Given the description of an element on the screen output the (x, y) to click on. 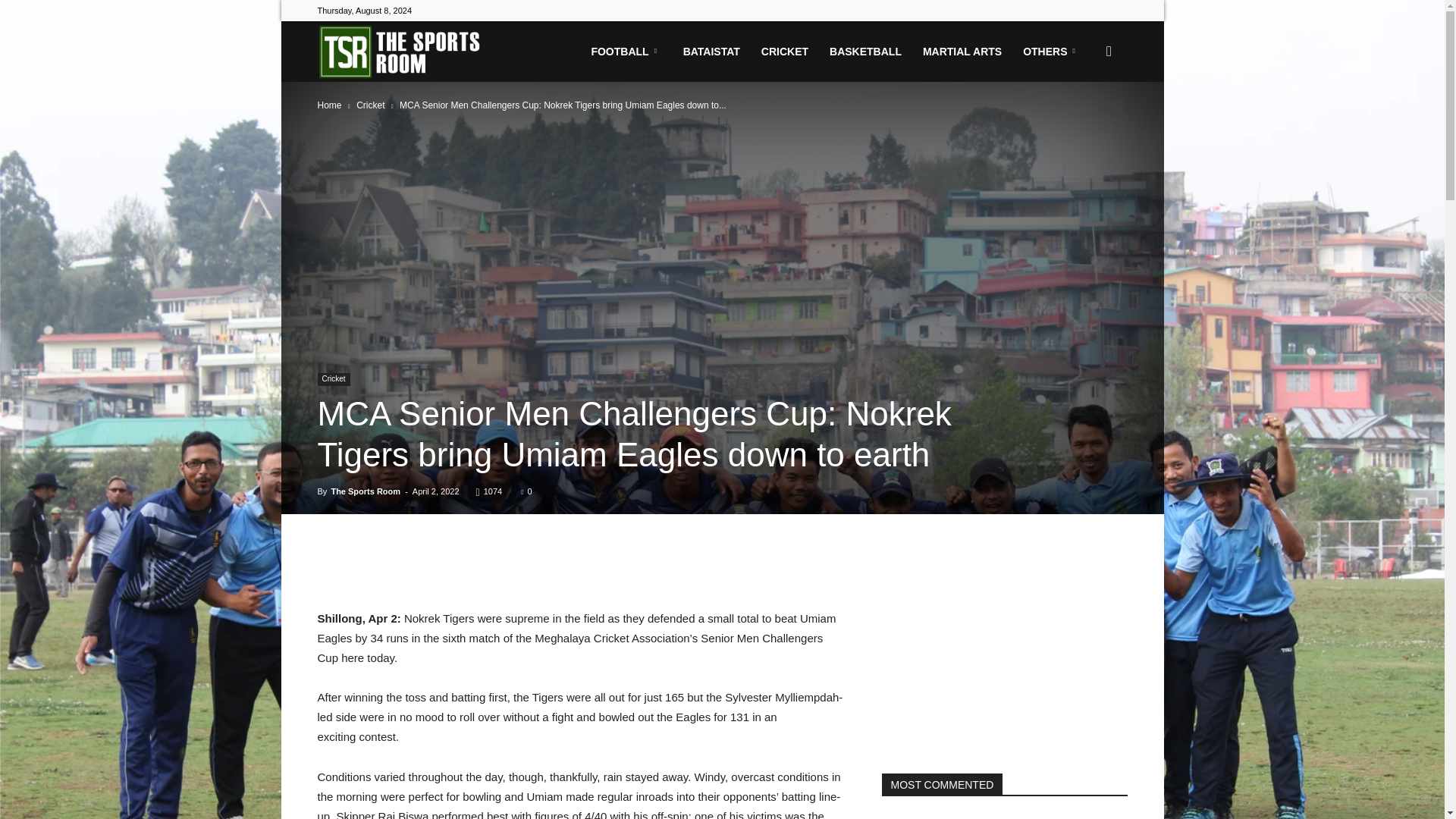
The Sports Room (401, 51)
BATAISTAT (711, 51)
Facebook (1065, 10)
FOOTBALL (625, 51)
Instagram (1090, 10)
View all posts in Cricket (370, 104)
Search (1085, 124)
CRICKET (784, 51)
Youtube (1114, 10)
